Given the description of an element on the screen output the (x, y) to click on. 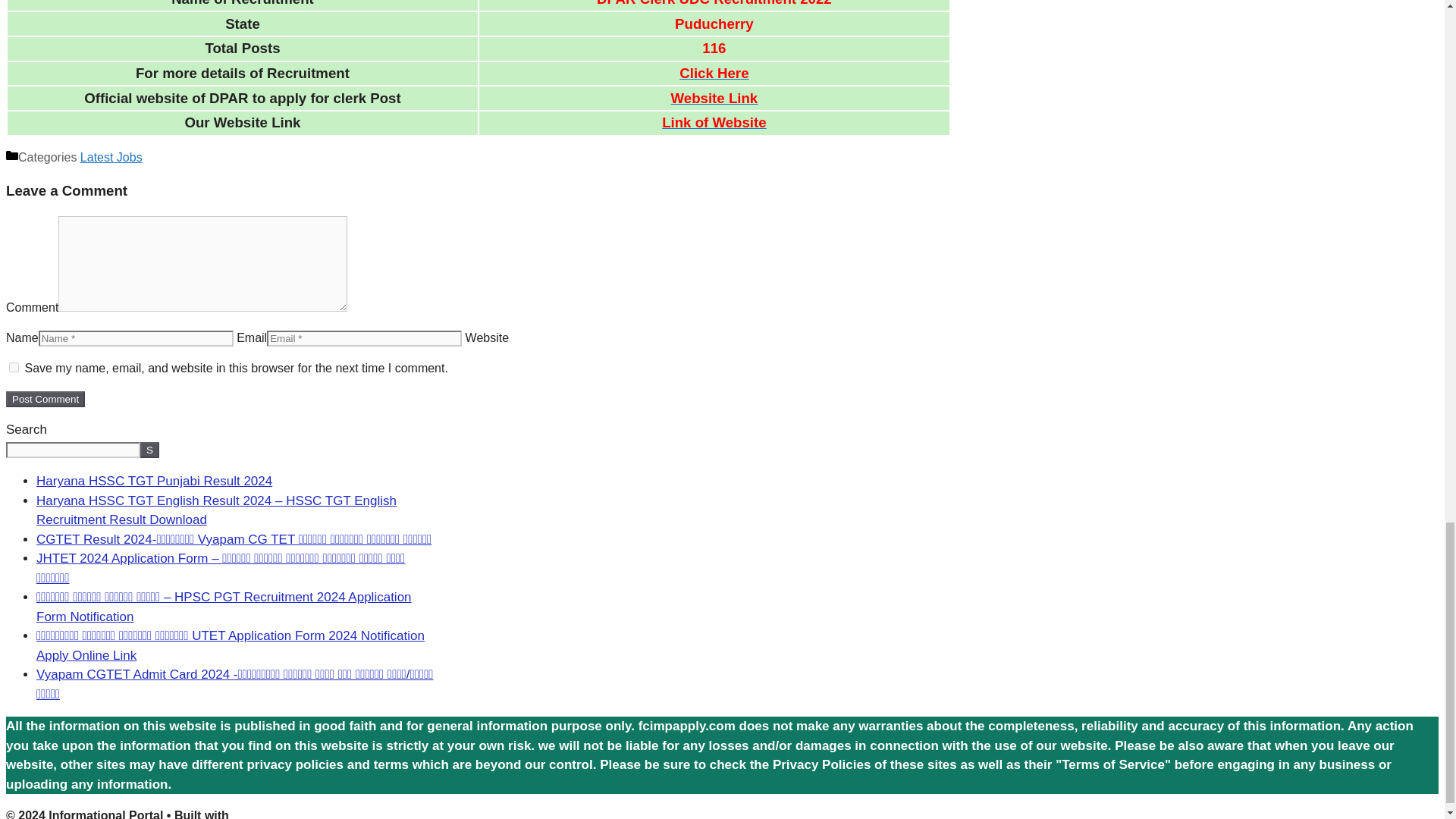
S (148, 449)
Post Comment (44, 399)
yes (13, 367)
Haryana HSSC TGT Punjabi Result 2024 (154, 481)
Post Comment (44, 399)
Link of Website (714, 123)
Website Link (714, 98)
Scroll back to top (1406, 49)
Click Here (713, 73)
Latest Jobs (111, 156)
